Given the description of an element on the screen output the (x, y) to click on. 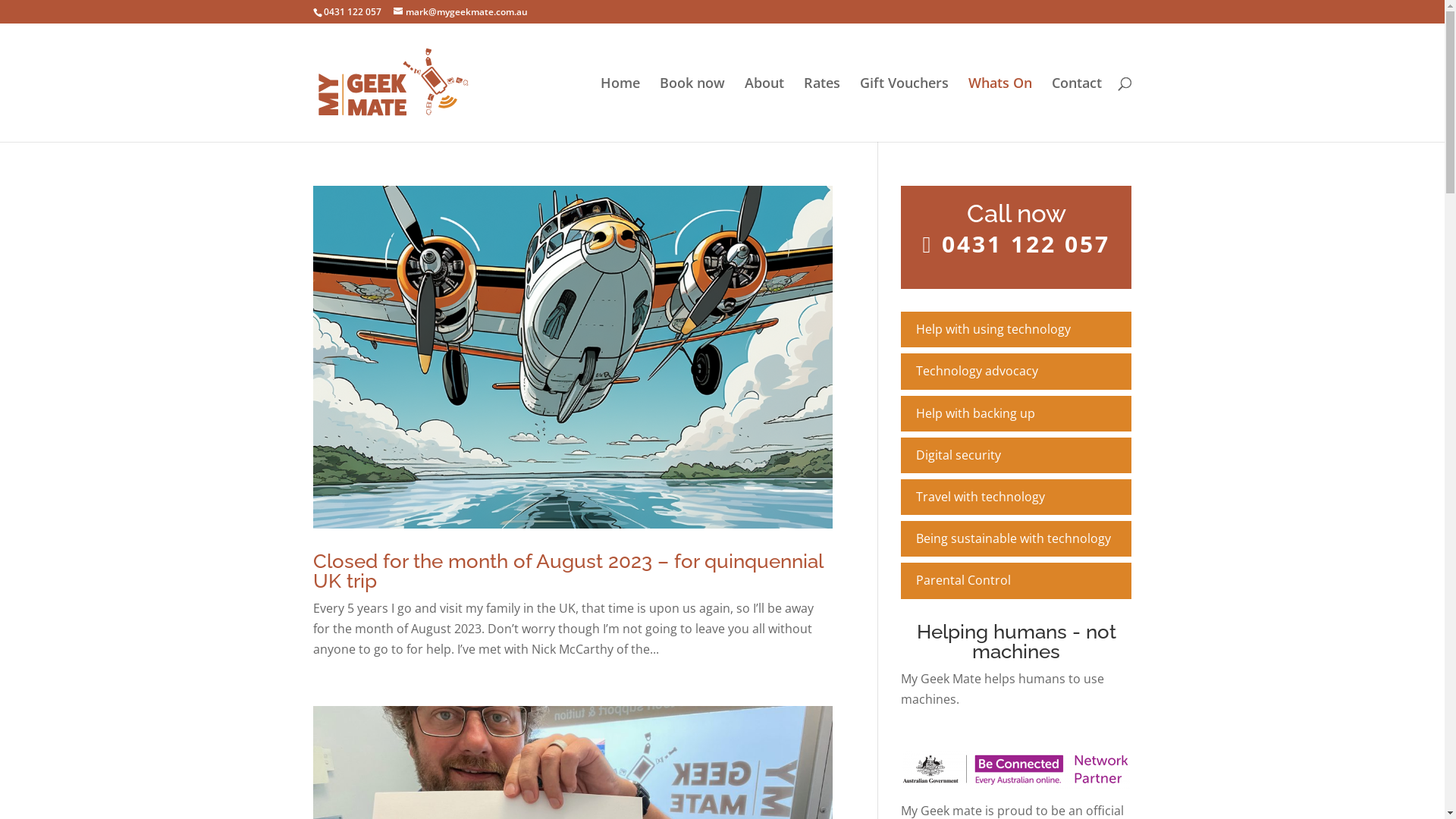
Digital security Element type: text (1016, 455)
Help with using technology Element type: text (1016, 329)
About Element type: text (764, 109)
mark@mygeekmate.com.au Element type: text (459, 11)
0431 122 057 Element type: text (351, 11)
Contact Element type: text (1076, 109)
Being sustainable with technology Element type: text (1016, 538)
Parental Control Element type: text (1016, 580)
Travel with technology Element type: text (1016, 496)
0431 122 057 Element type: text (1016, 243)
Book now Element type: text (691, 109)
Gift Vouchers Element type: text (903, 109)
Technology advocacy Element type: text (1016, 371)
Help with backing up Element type: text (1016, 413)
Rates Element type: text (821, 109)
Whats On Element type: text (999, 109)
Home Element type: text (620, 109)
